Given the description of an element on the screen output the (x, y) to click on. 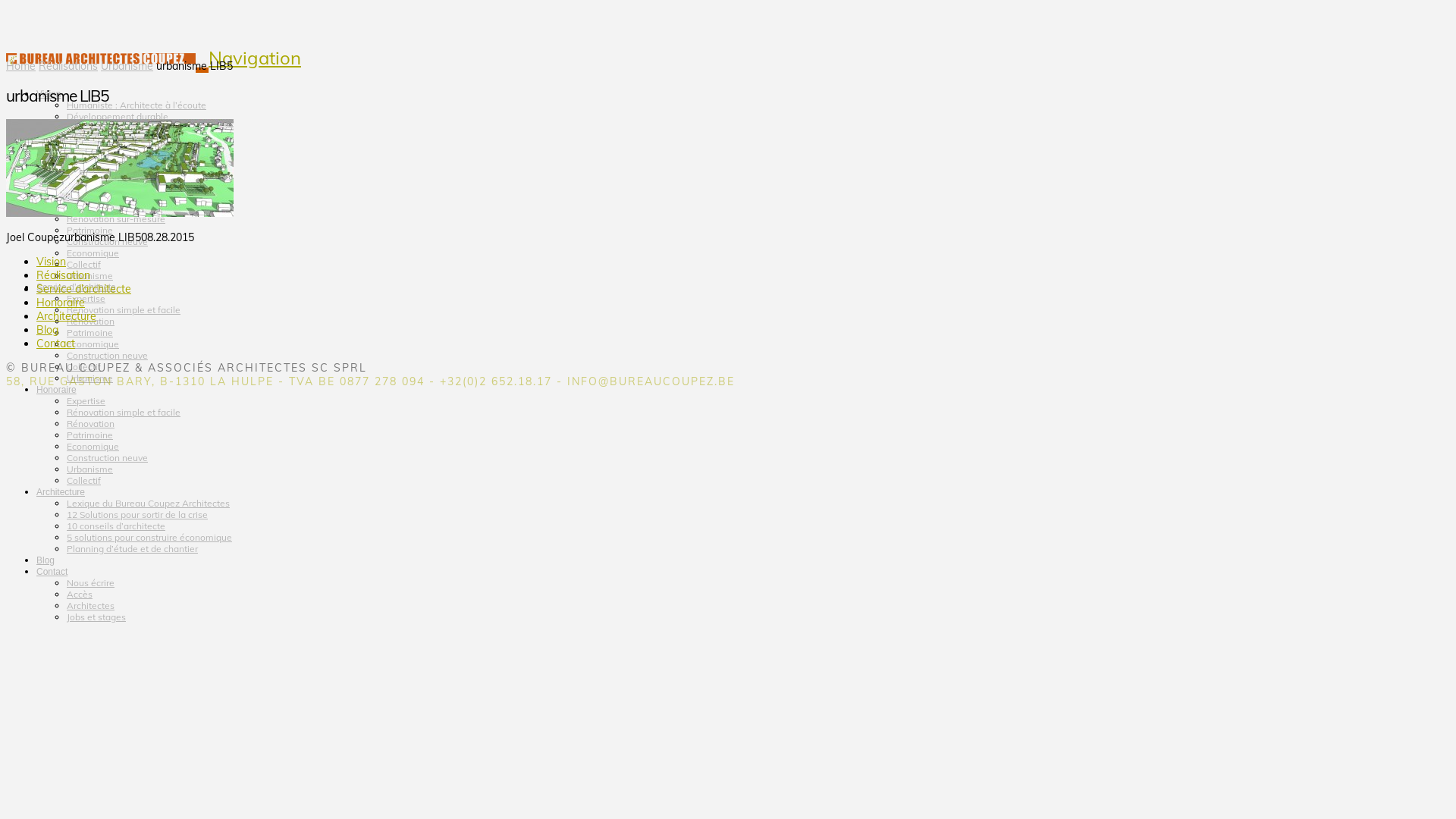
Economique Element type: text (92, 445)
Social Element type: text (78, 127)
Contact Element type: text (51, 558)
Expertise Element type: text (85, 400)
Ecologie Element type: text (84, 150)
Home Element type: text (20, 65)
Patrimoine Element type: text (89, 434)
Navigation Element type: text (254, 57)
Vision Element type: text (50, 261)
Contact Element type: text (55, 343)
Lexique du Bureau Coupez Architectes Element type: text (147, 502)
Construction neuve Element type: text (106, 354)
Patrimoine Element type: text (89, 332)
Urbanisme Element type: text (89, 377)
Blog Element type: text (45, 546)
Blog Element type: text (47, 329)
Patrimoine Element type: text (89, 229)
12 Solutions pour sortir de la crise Element type: text (136, 514)
Honoraire Element type: text (60, 302)
Economique Element type: text (92, 252)
Architectes Element type: text (90, 605)
Architecture Element type: text (66, 316)
Collectif Element type: text (83, 480)
Economique Element type: text (92, 343)
Urbanisme Element type: text (89, 275)
Honoraire Element type: text (56, 376)
Jobs et stages Element type: text (95, 616)
Expertise Element type: text (85, 298)
Collectif Element type: text (83, 263)
Construction neuve Element type: text (106, 457)
Vision Element type: text (48, 80)
Construction neuve Element type: text (106, 241)
Collectif Element type: text (83, 366)
Architecture Element type: text (60, 478)
Urbanisme Element type: text (89, 468)
Urbanisme Element type: text (126, 65)
